Given the description of an element on the screen output the (x, y) to click on. 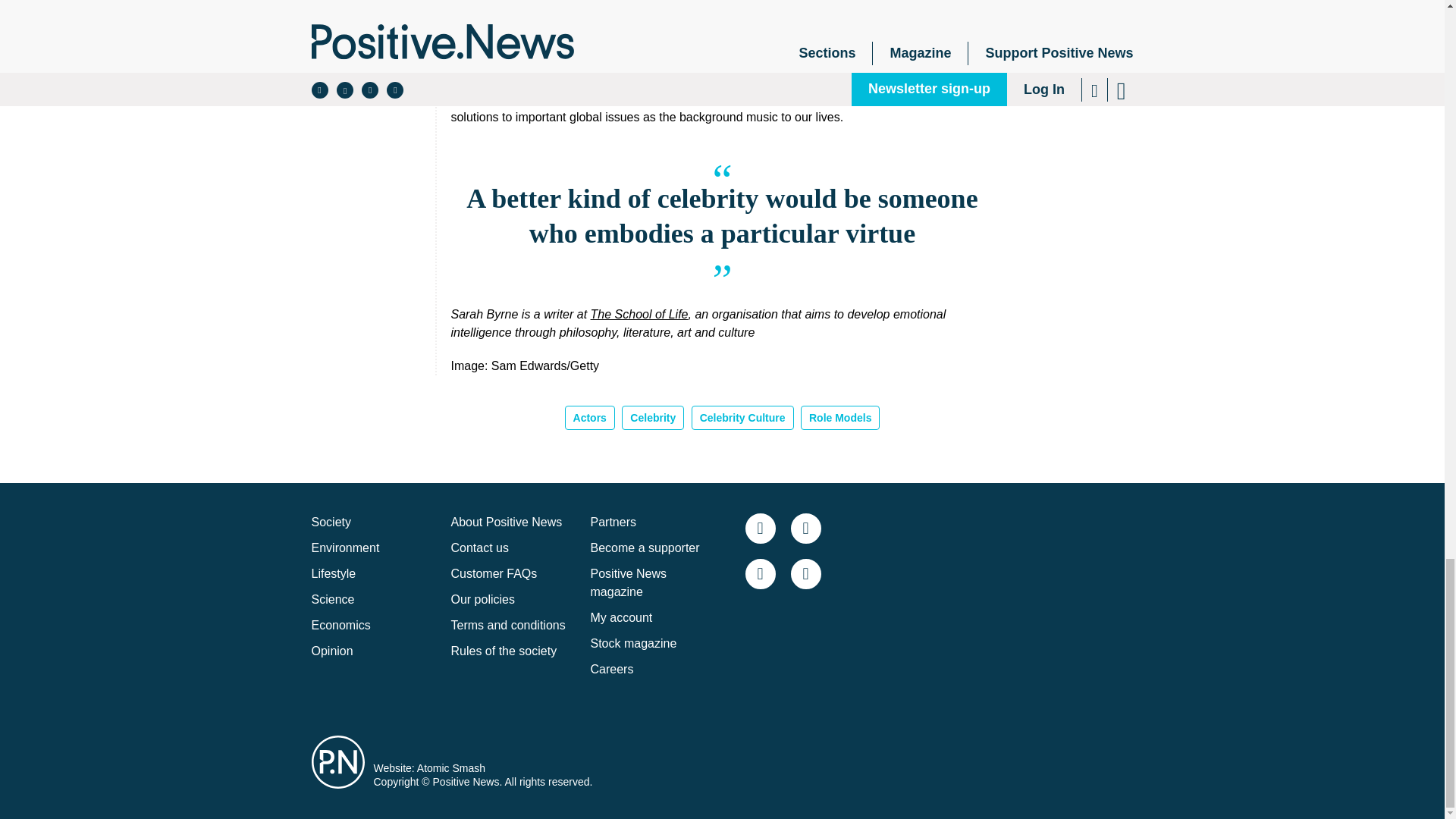
Lifestyle (333, 573)
Role Models (839, 417)
Science (332, 599)
Society (330, 521)
The School of Life (639, 314)
Celebrity Culture (742, 417)
Actors (589, 417)
Environment (344, 547)
Celebrity (652, 417)
